Given the description of an element on the screen output the (x, y) to click on. 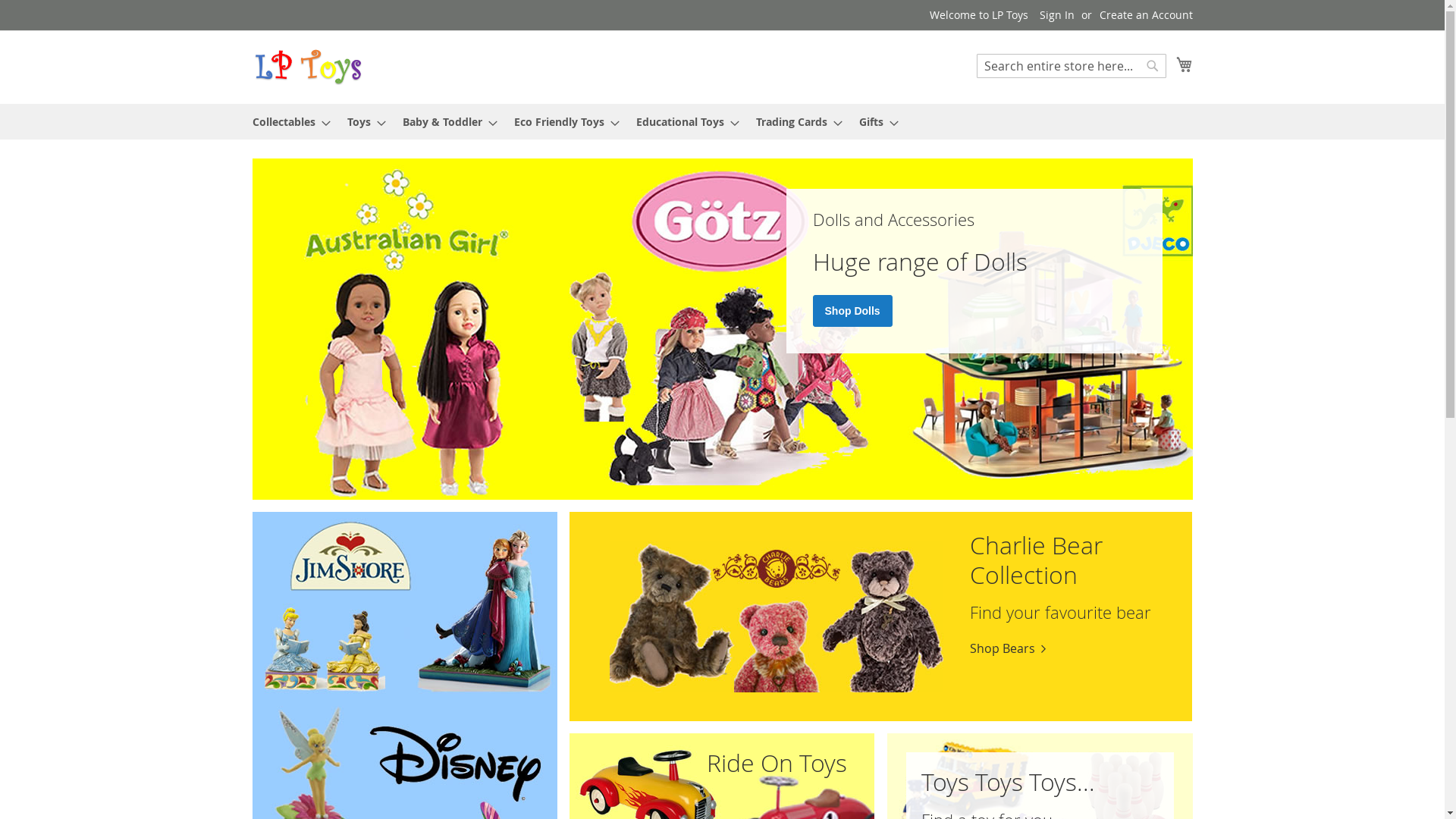
Gifts Element type: text (873, 121)
Educational Toys Element type: text (682, 121)
Collectables Element type: text (285, 121)
Sign In Element type: text (1055, 14)
Trading Cards Element type: text (793, 121)
Charlie Bear Collection
Find your favourite bear
Shop Bears Element type: text (880, 616)
My Cart Element type: text (1183, 64)
LP Toys Element type: hover (307, 65)
Create an Account Element type: text (1145, 14)
Skip to Content Element type: text (251, 6)
Toys Element type: text (361, 121)
Eco Friendly Toys Element type: text (562, 121)
Baby & Toddler Element type: text (444, 121)
Dolls and Accessories
Huge range of Dolls
Shop Dolls Element type: text (721, 328)
Search Element type: text (1152, 65)
